Given the description of an element on the screen output the (x, y) to click on. 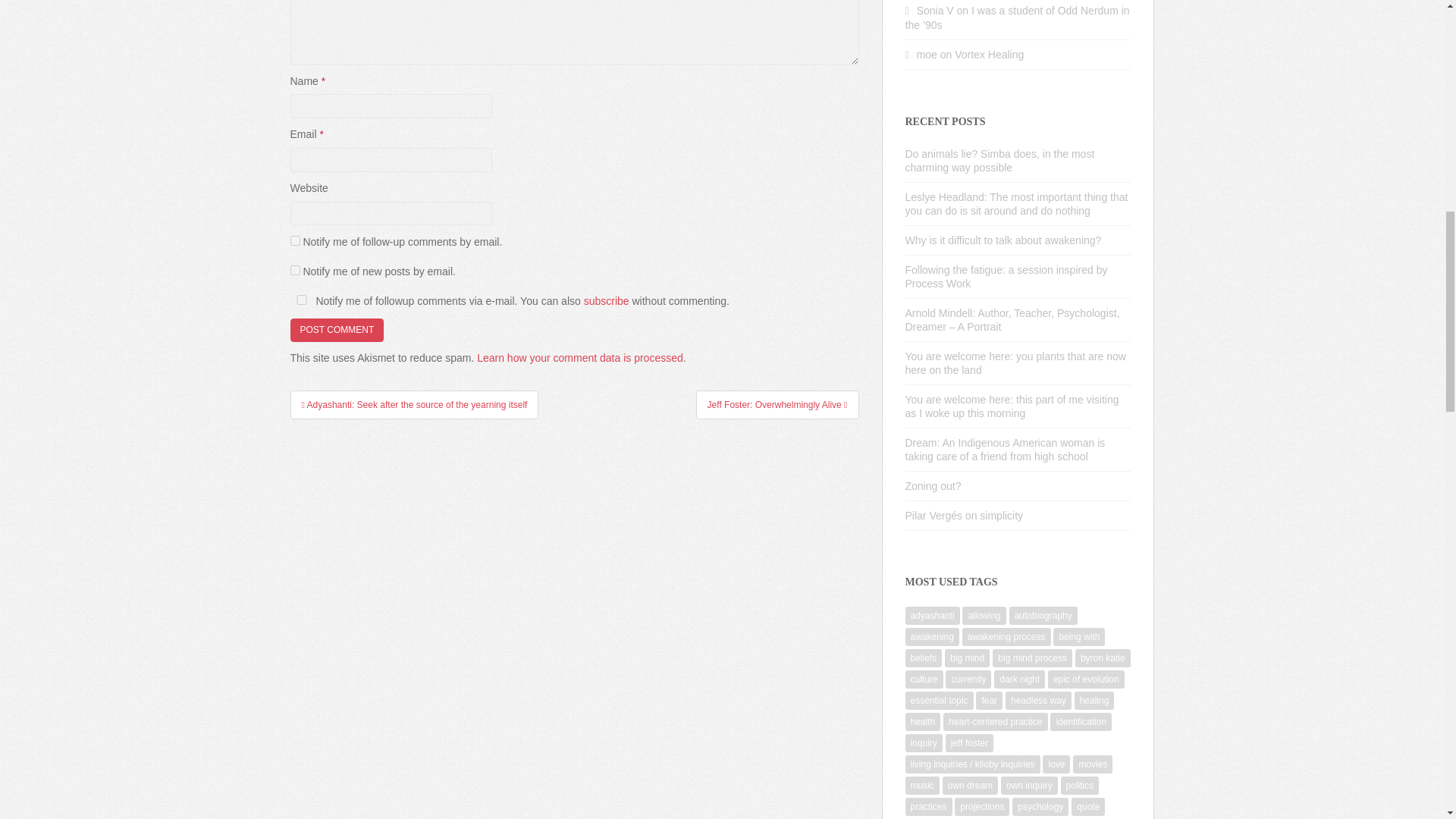
Post Comment (336, 330)
subscribe (294, 240)
Learn how your comment data is processed (579, 357)
subscribe (605, 300)
yes (301, 299)
Post Comment (336, 330)
subscribe (294, 270)
